Given the description of an element on the screen output the (x, y) to click on. 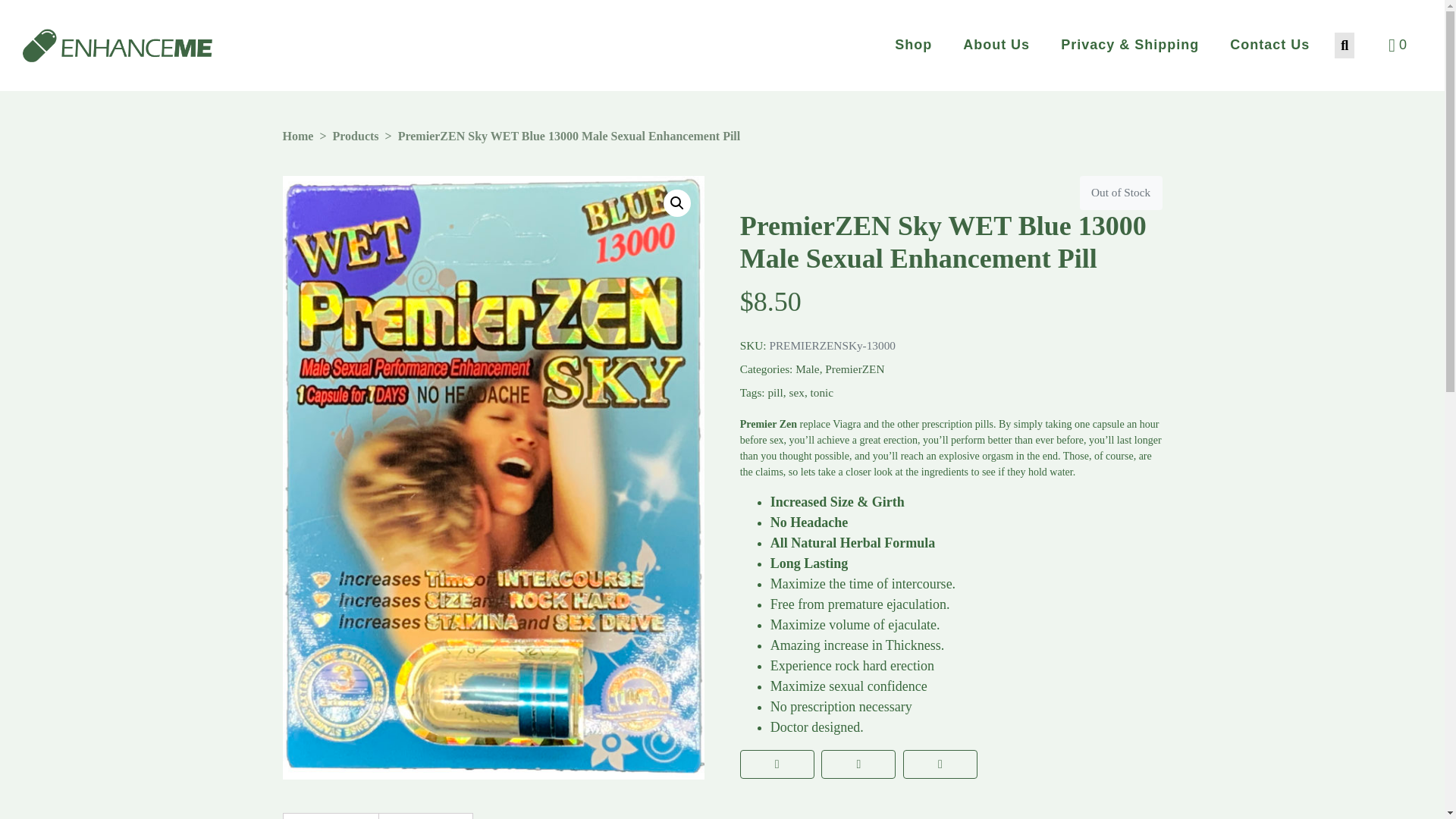
sex (797, 391)
pill (775, 391)
Description (331, 816)
Shop (912, 44)
tonic (822, 391)
PremierZEN (854, 368)
Male (806, 368)
Home (297, 135)
About Us (995, 44)
Products (354, 135)
0 (1395, 45)
Contact Us (1270, 44)
